Given the description of an element on the screen output the (x, y) to click on. 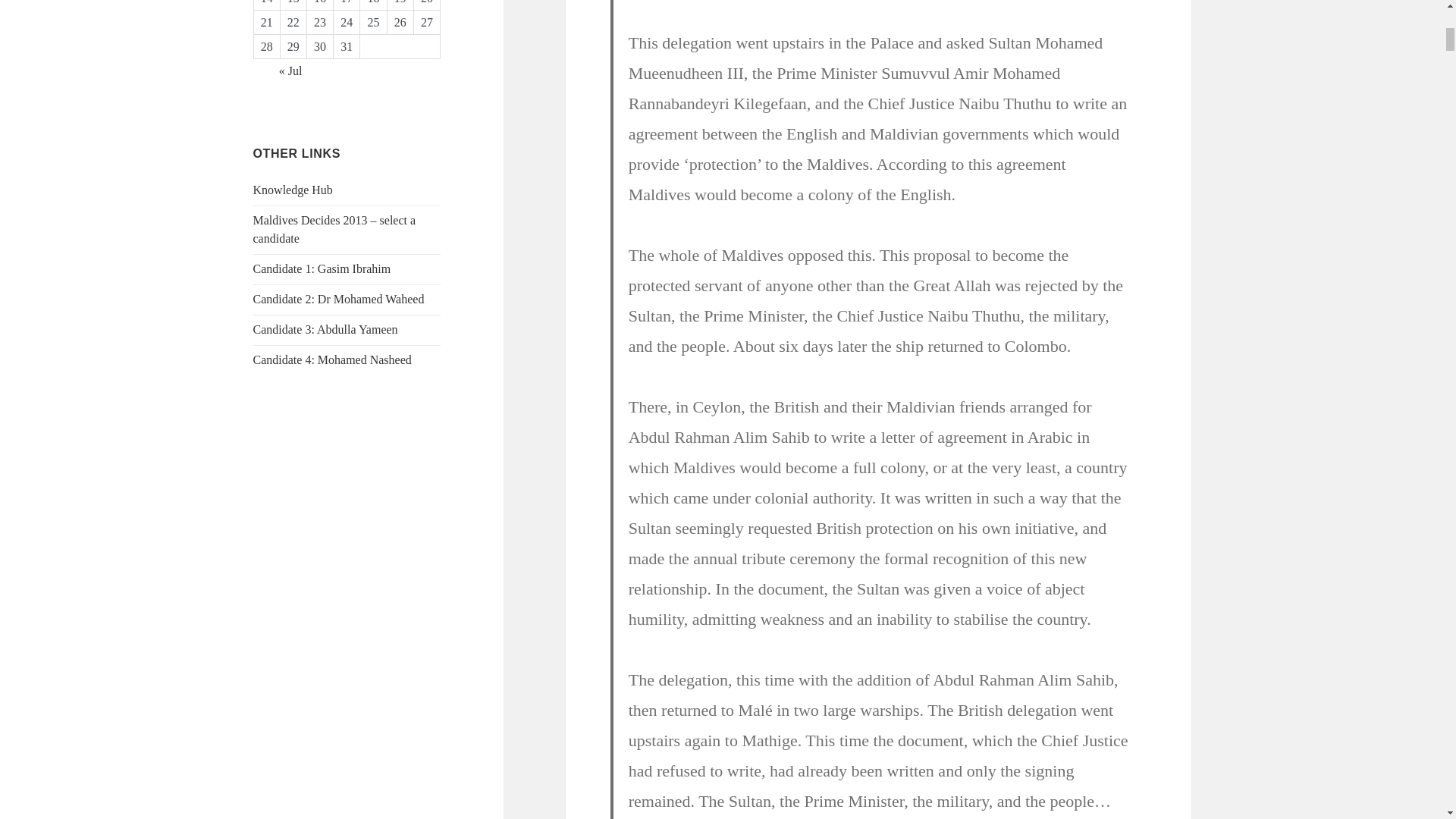
Candidate 1: Gasim Ibrahim (322, 268)
Candidate 2: Dr Mohamed Waheed (339, 298)
Knowledge Hub (293, 189)
Candidate 4: Mohamed Nasheed (332, 359)
Candidate 3: Abdulla Yameen (325, 328)
